Given the description of an element on the screen output the (x, y) to click on. 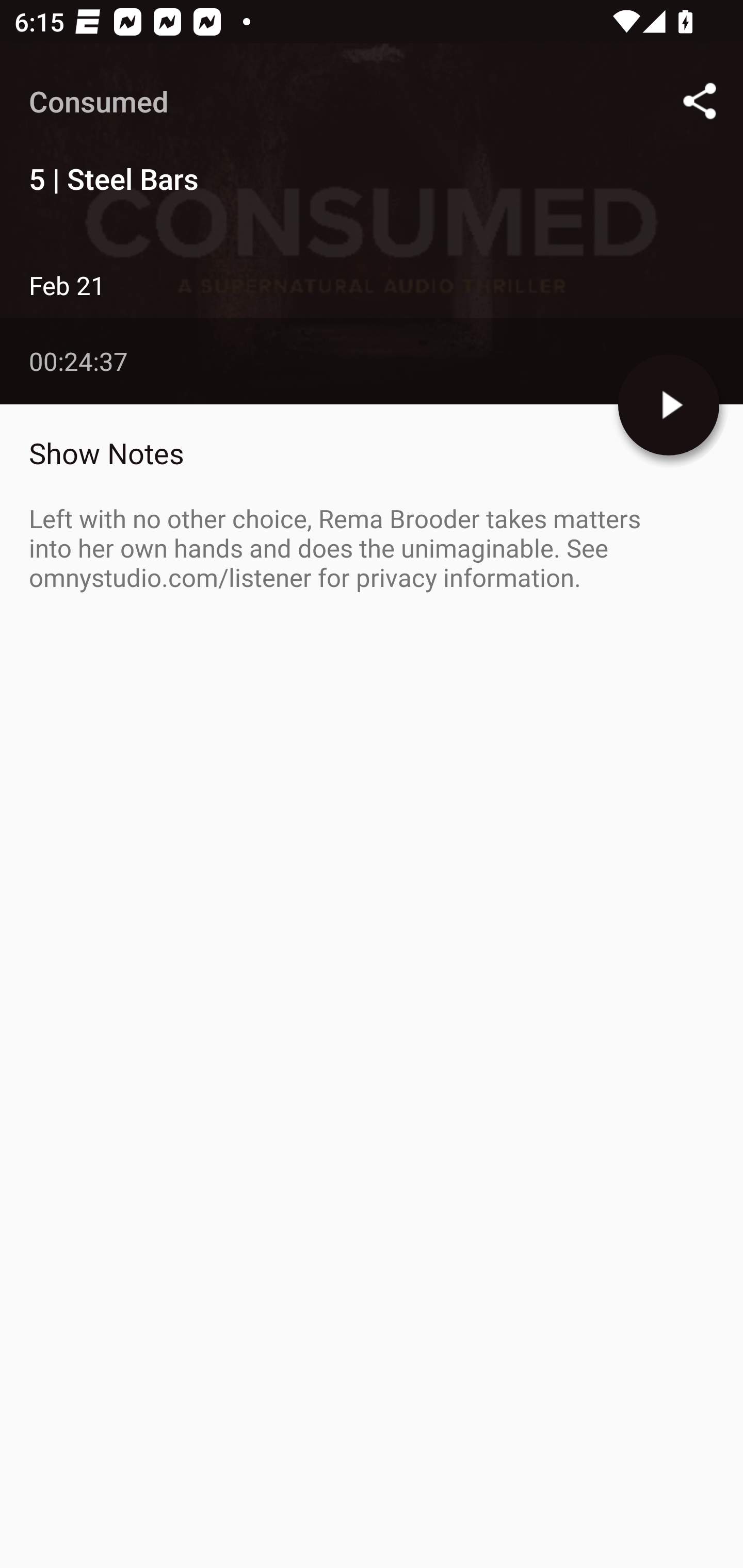
Consumed 5 | Steel Bars Feb 21 00:24:37 (371, 223)
